Given the description of an element on the screen output the (x, y) to click on. 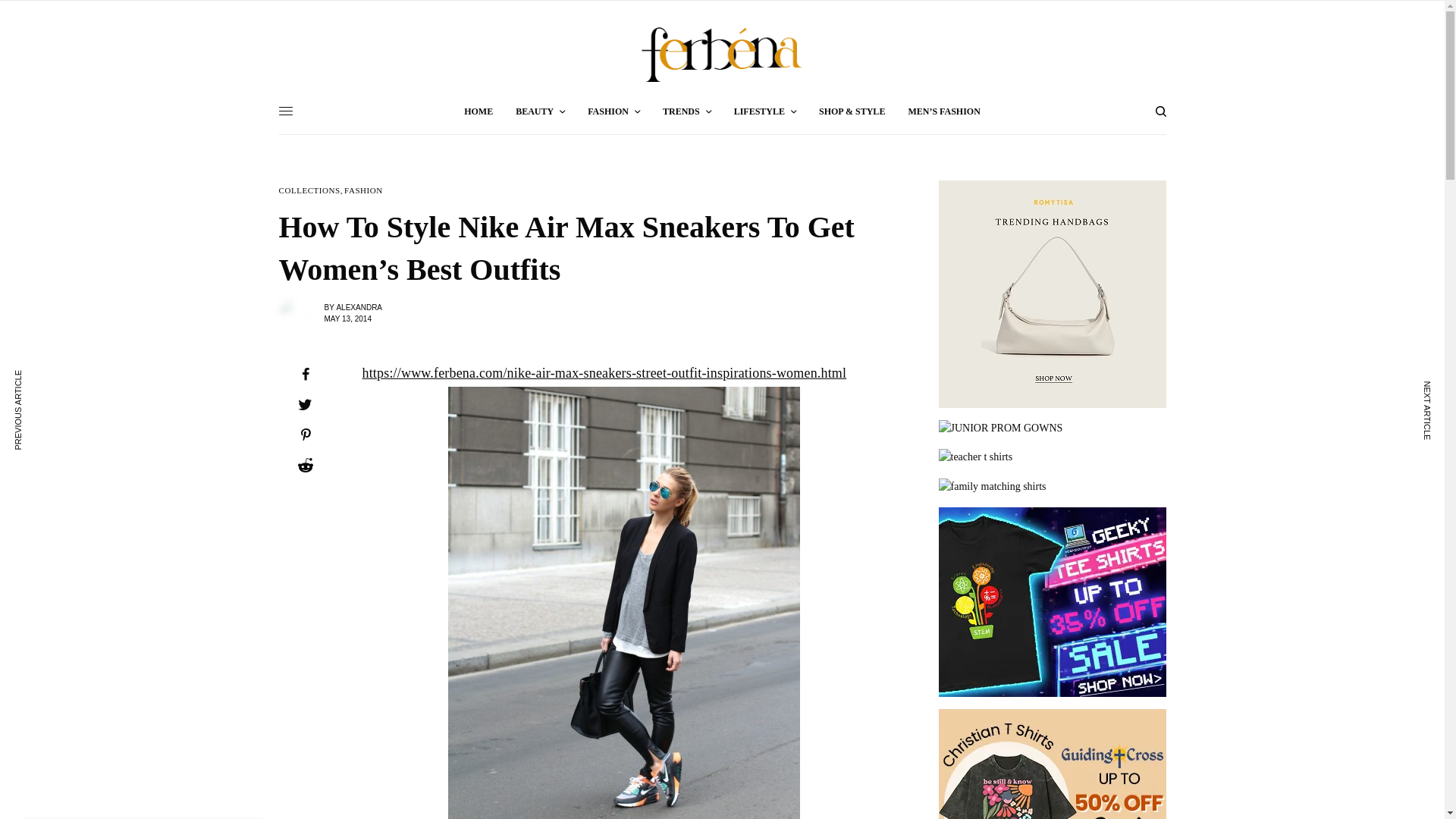
family matching shirts (1052, 486)
LIFESTYLE (764, 111)
trendy-gowns (1052, 428)
geek t shirt (1052, 601)
baguette bags (1052, 293)
FASHION (362, 190)
COLLECTIONS (309, 190)
ALEXANDRA (358, 307)
FASHION (614, 111)
teacher t shirts (1052, 457)
Posts by Alexandra (358, 307)
Ferbena.com (722, 54)
TRENDS (686, 111)
christian t shirts (1052, 764)
BEAUTY (539, 111)
